Given the description of an element on the screen output the (x, y) to click on. 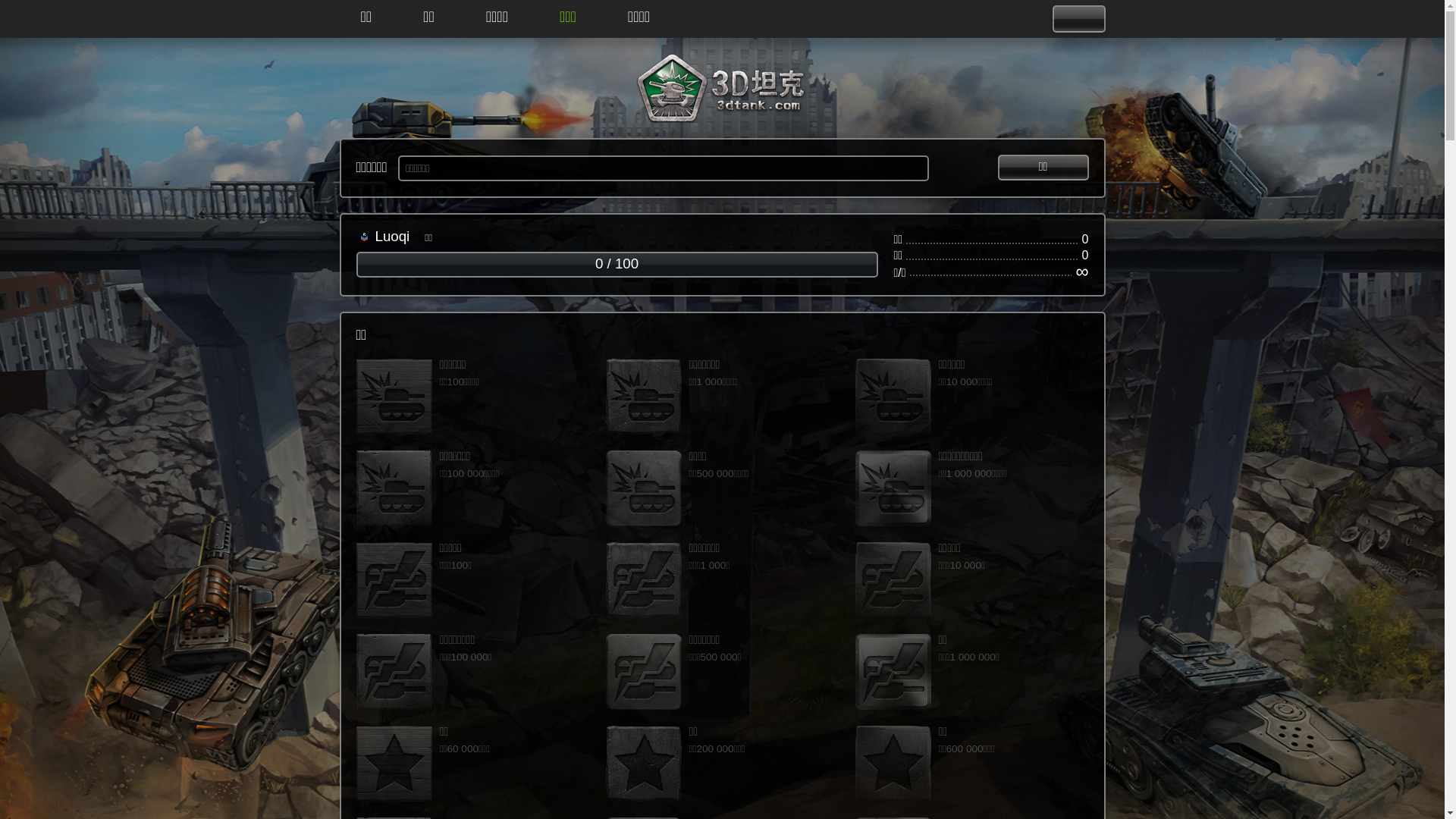
Luoqi Element type: text (391, 236)
